Given the description of an element on the screen output the (x, y) to click on. 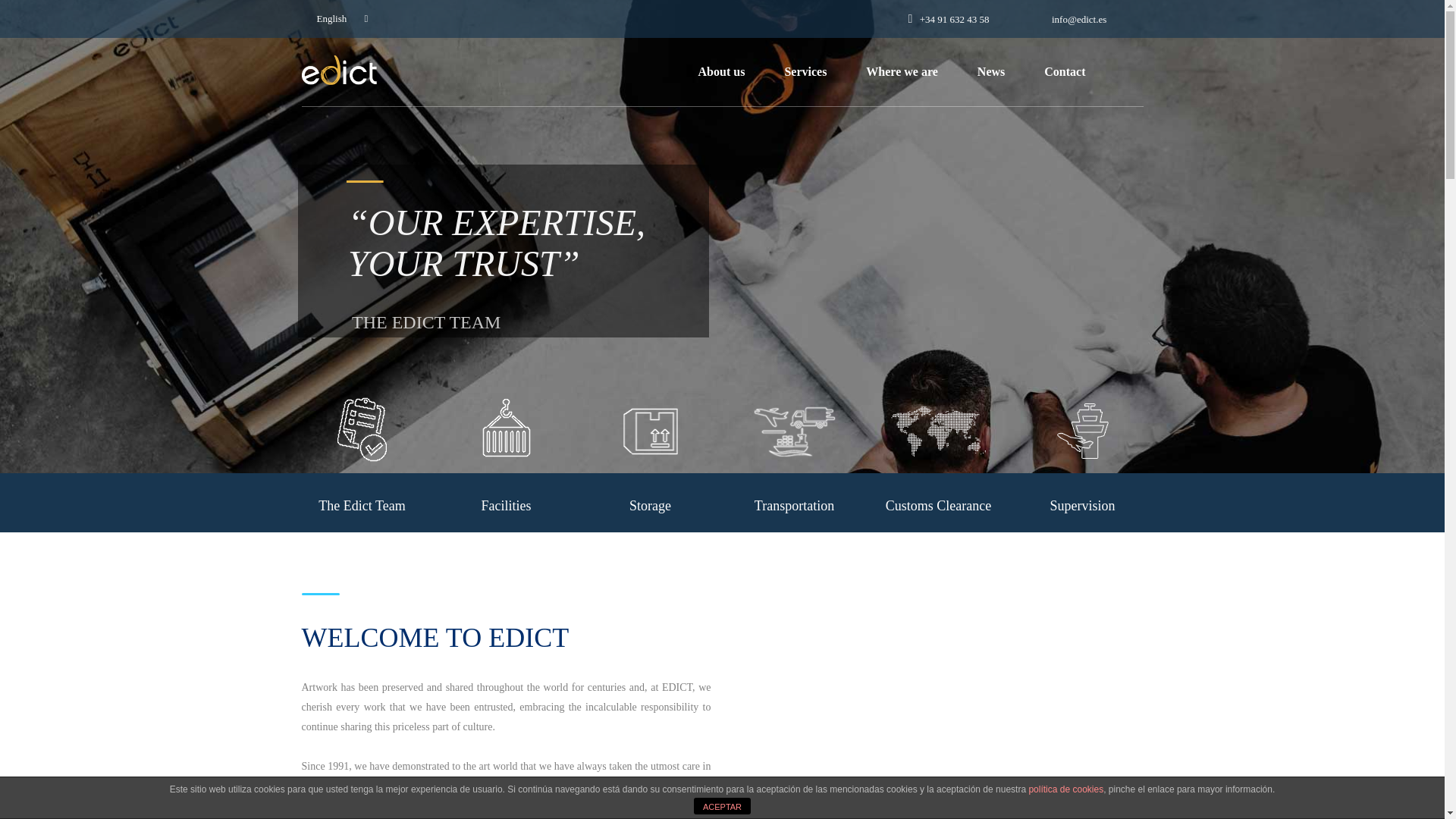
Contact (1063, 71)
News (990, 71)
Services (805, 71)
English (339, 18)
Where we are (901, 71)
About us (721, 71)
